Given the description of an element on the screen output the (x, y) to click on. 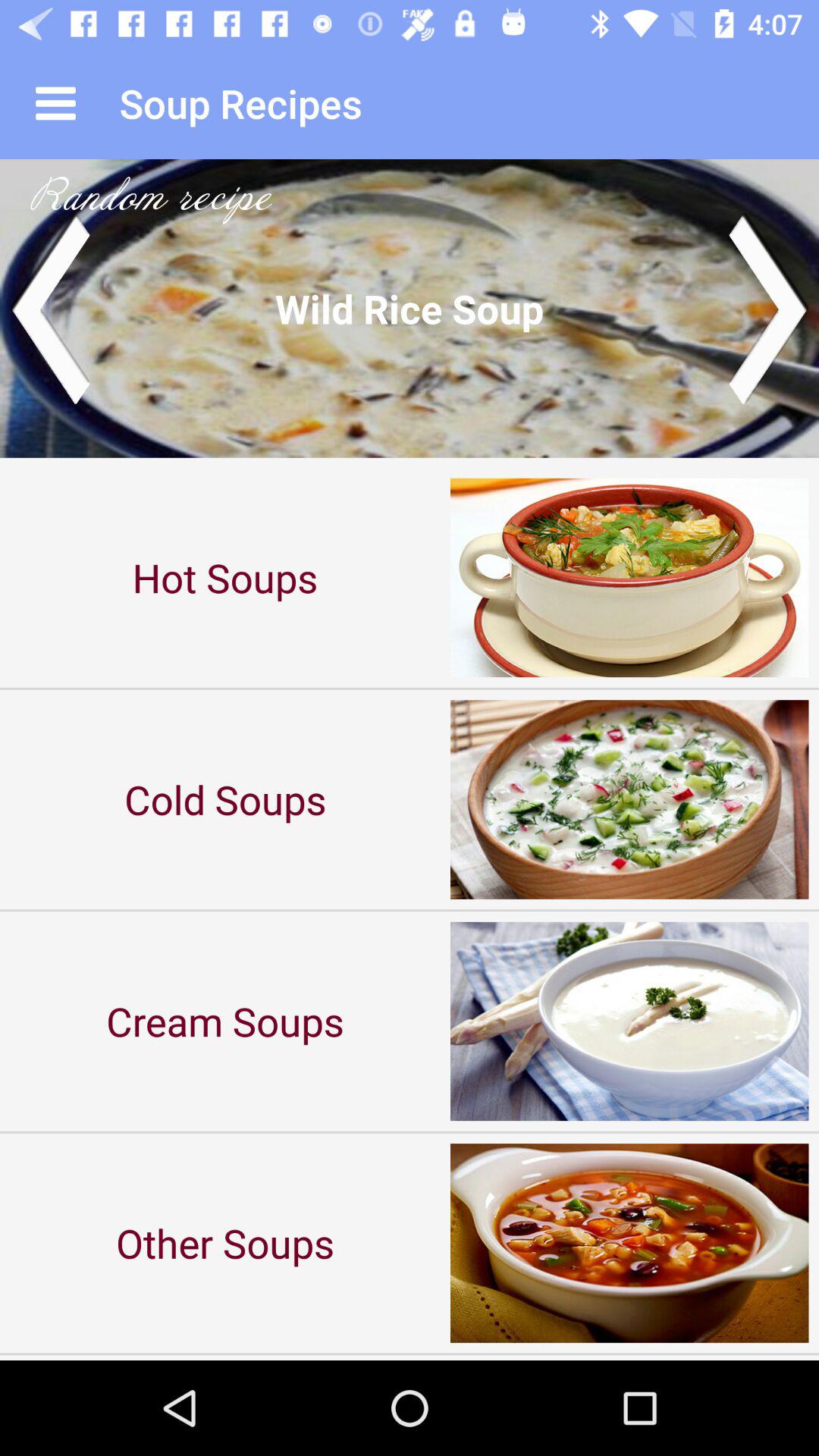
turn off the app next to soup recipes app (55, 103)
